Given the description of an element on the screen output the (x, y) to click on. 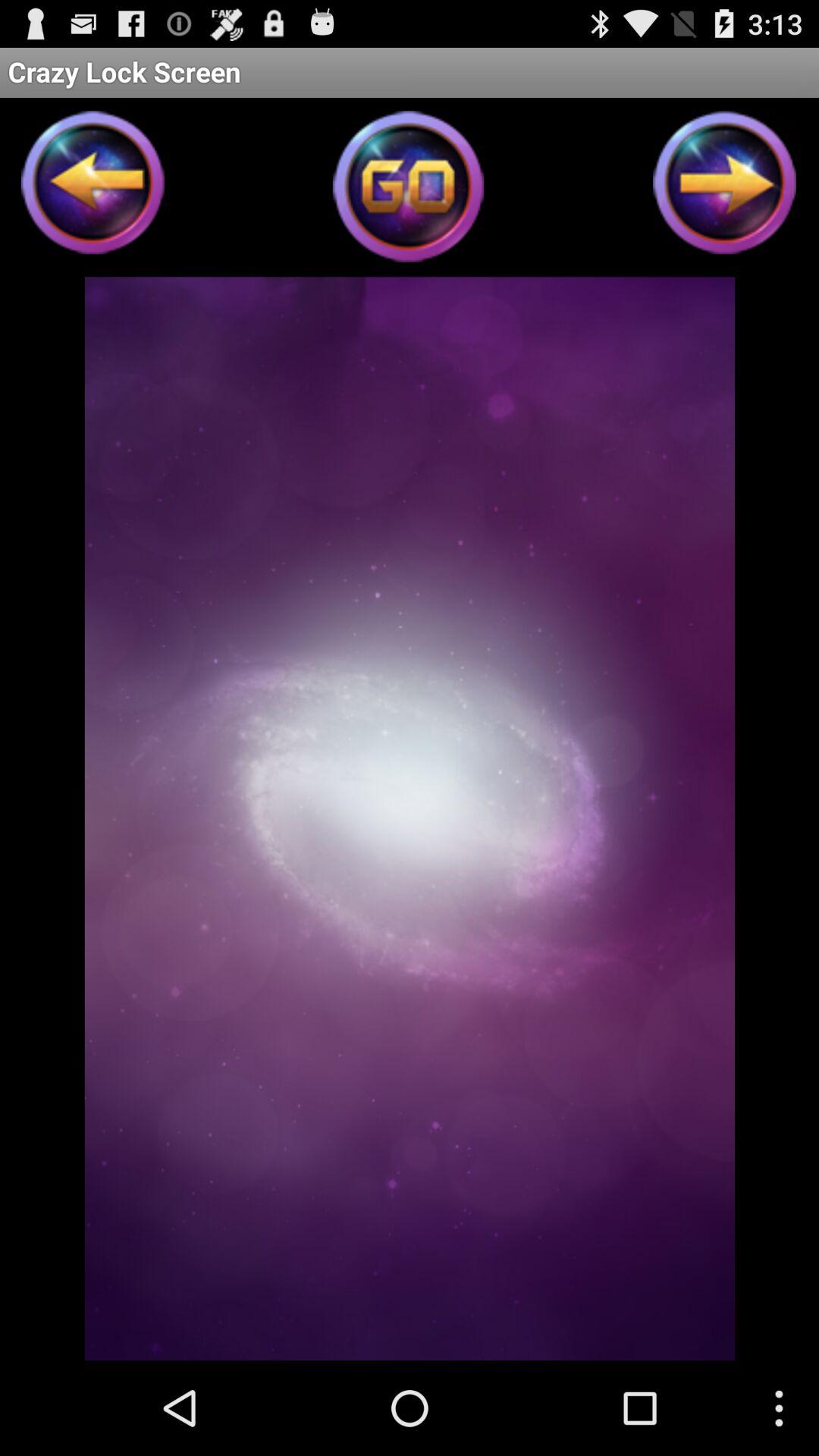
choose icon at the center (409, 818)
